Given the description of an element on the screen output the (x, y) to click on. 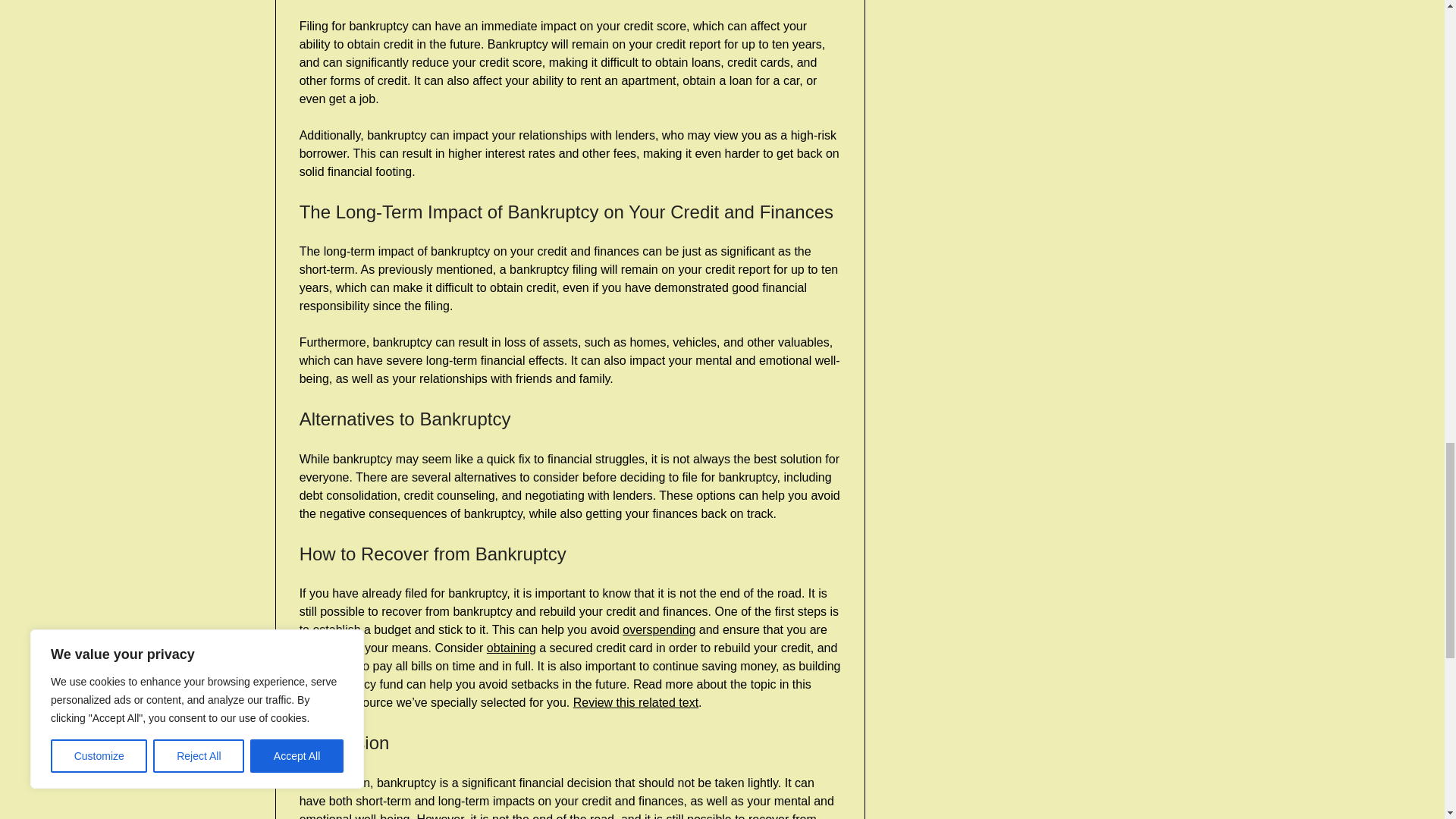
obtaining (510, 647)
overspending (659, 629)
Review this related text (635, 702)
